Given the description of an element on the screen output the (x, y) to click on. 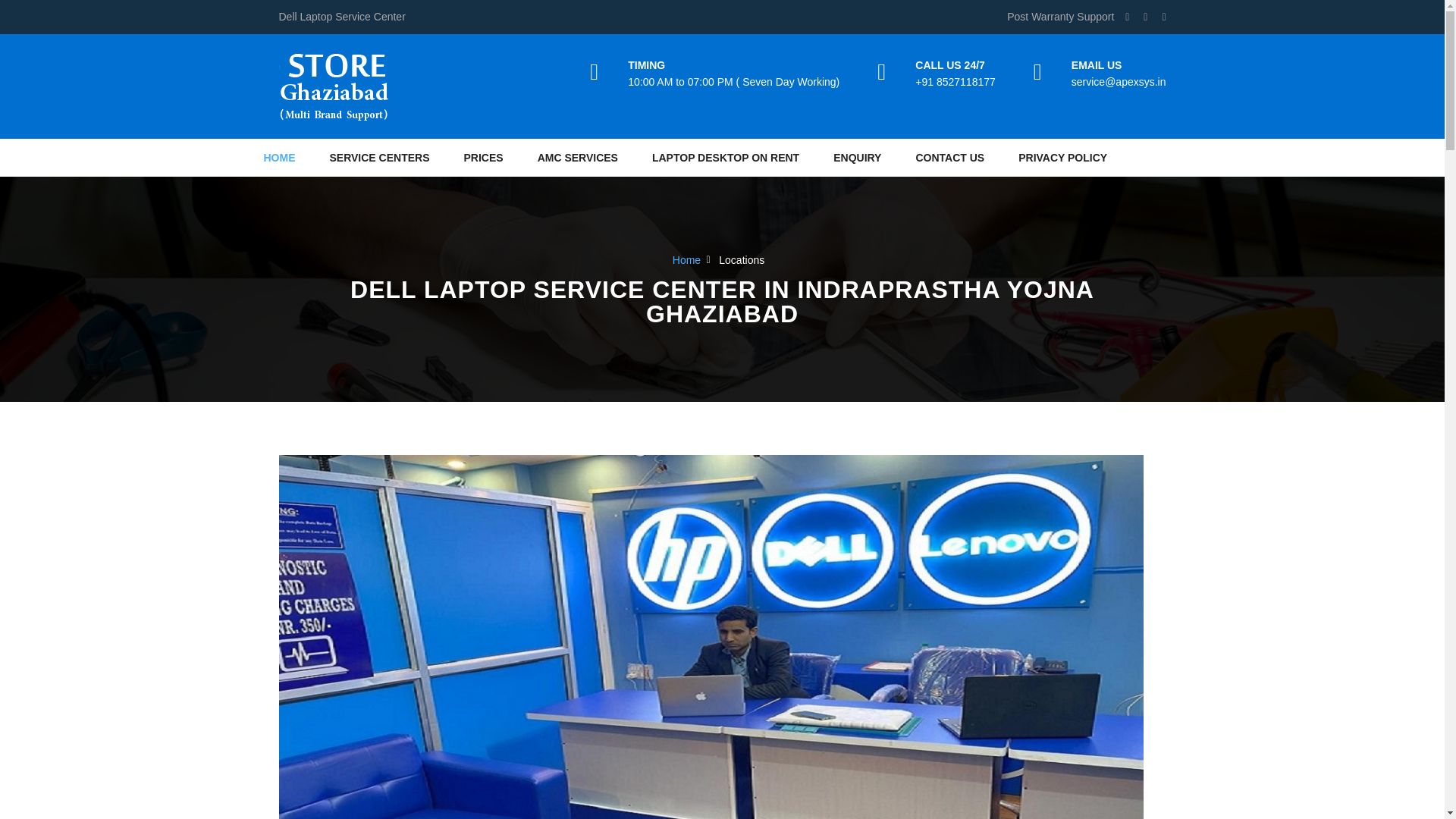
HOME (279, 157)
Dell Laptop Service Center (333, 87)
SERVICE CENTERS (379, 157)
